Given the description of an element on the screen output the (x, y) to click on. 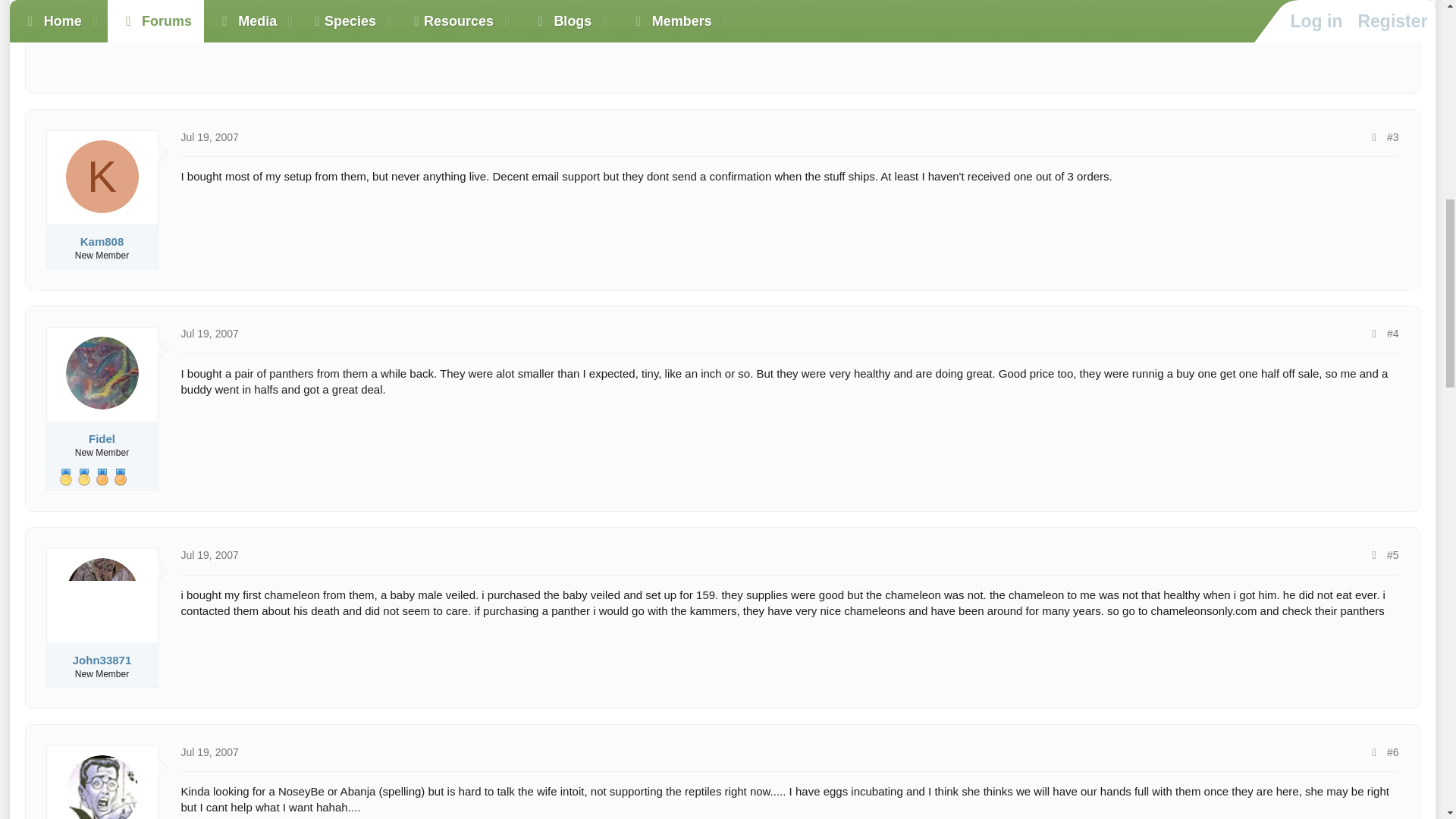
Jul 19, 2007 at 9:44 PM (209, 333)
Jul 19, 2007 at 9:59 PM (209, 752)
Jul 19, 2007 at 9:42 PM (209, 137)
3rd party ad content (721, 36)
Jul 19, 2007 at 9:48 PM (209, 554)
